Given the description of an element on the screen output the (x, y) to click on. 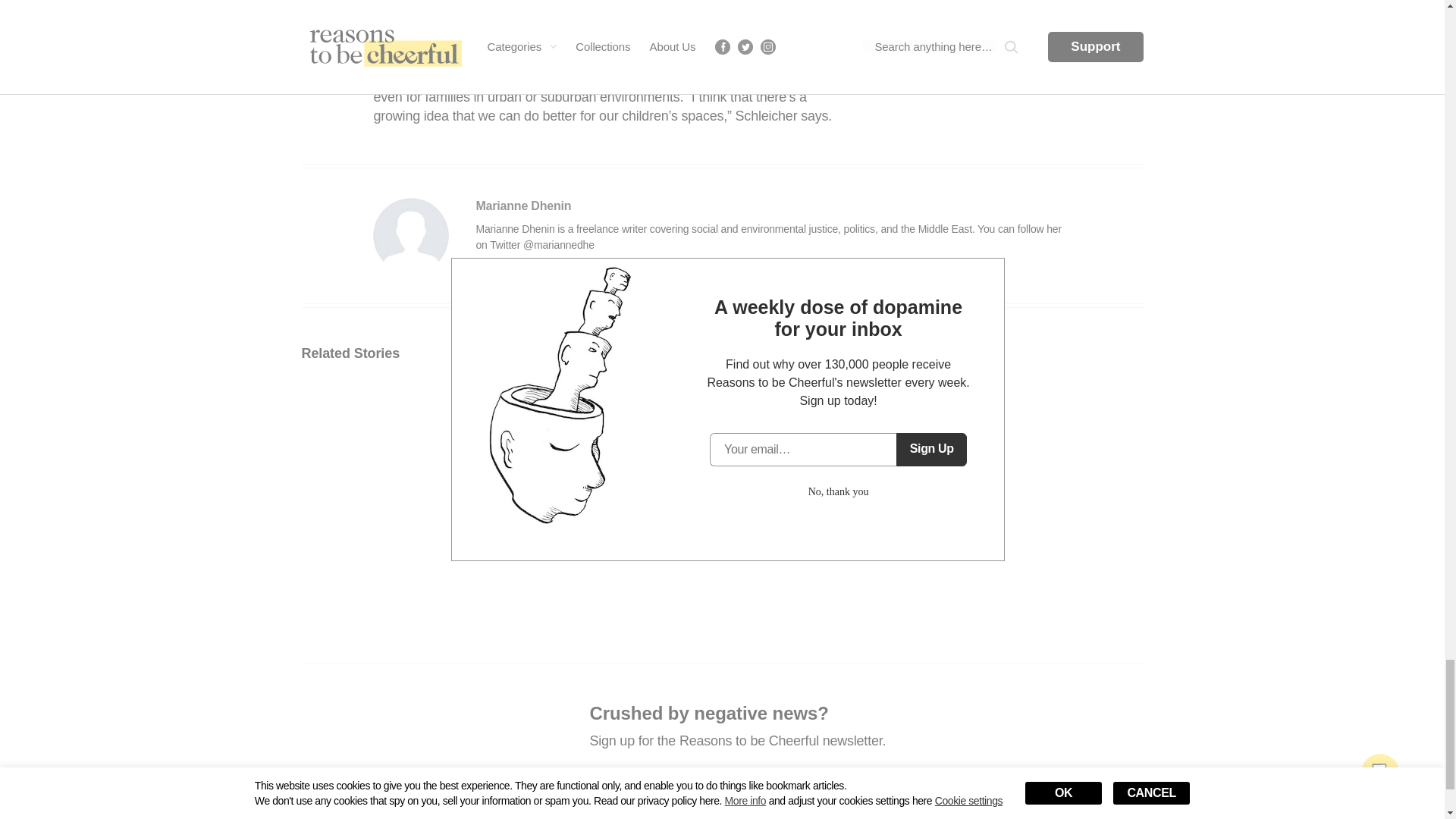
Posts by Marianne Dhenin (523, 205)
Sign Up (979, 785)
